Given the description of an element on the screen output the (x, y) to click on. 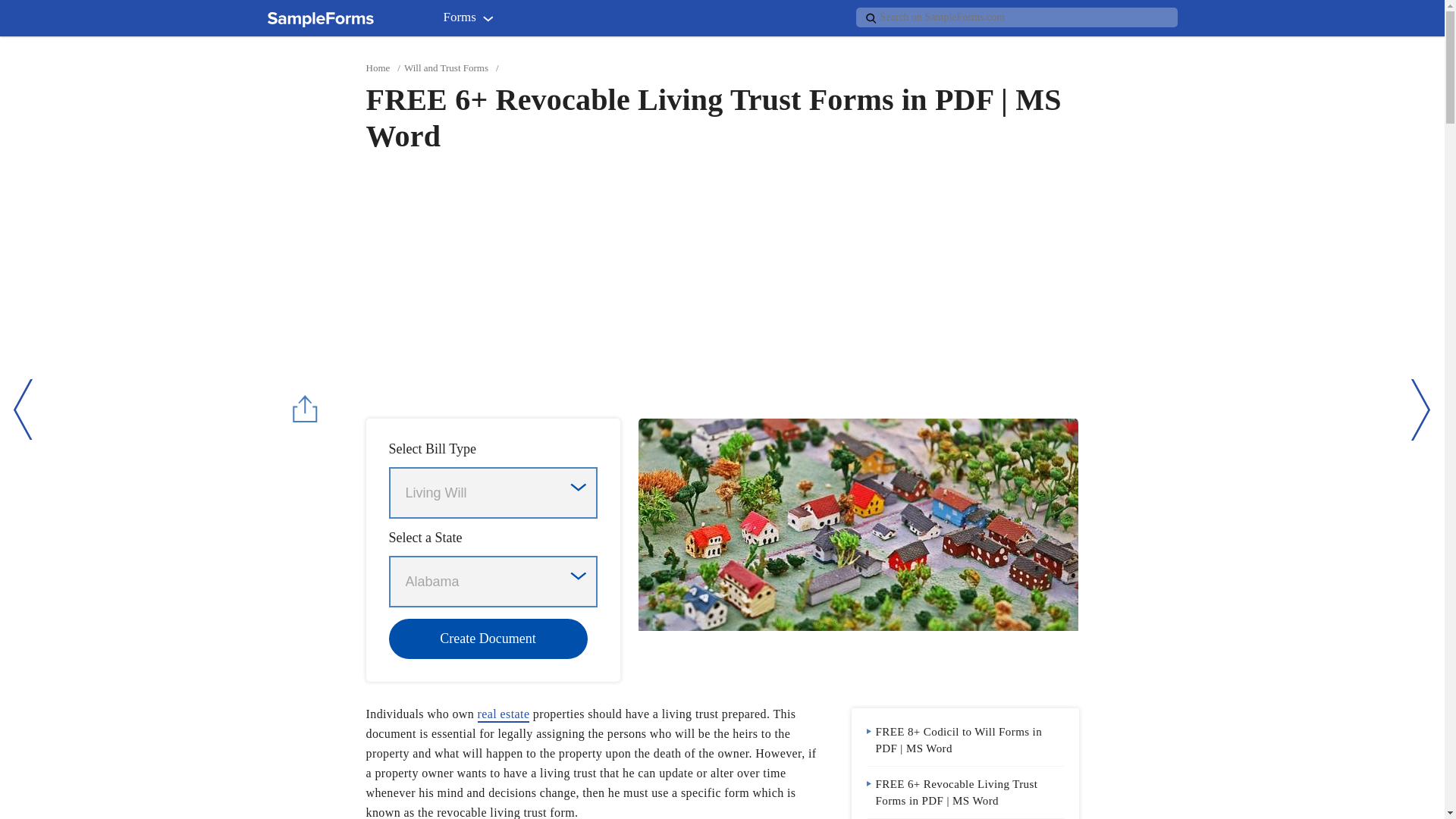
revocable living trusts forms (858, 524)
Home (377, 68)
Forms (471, 20)
